Given the description of an element on the screen output the (x, y) to click on. 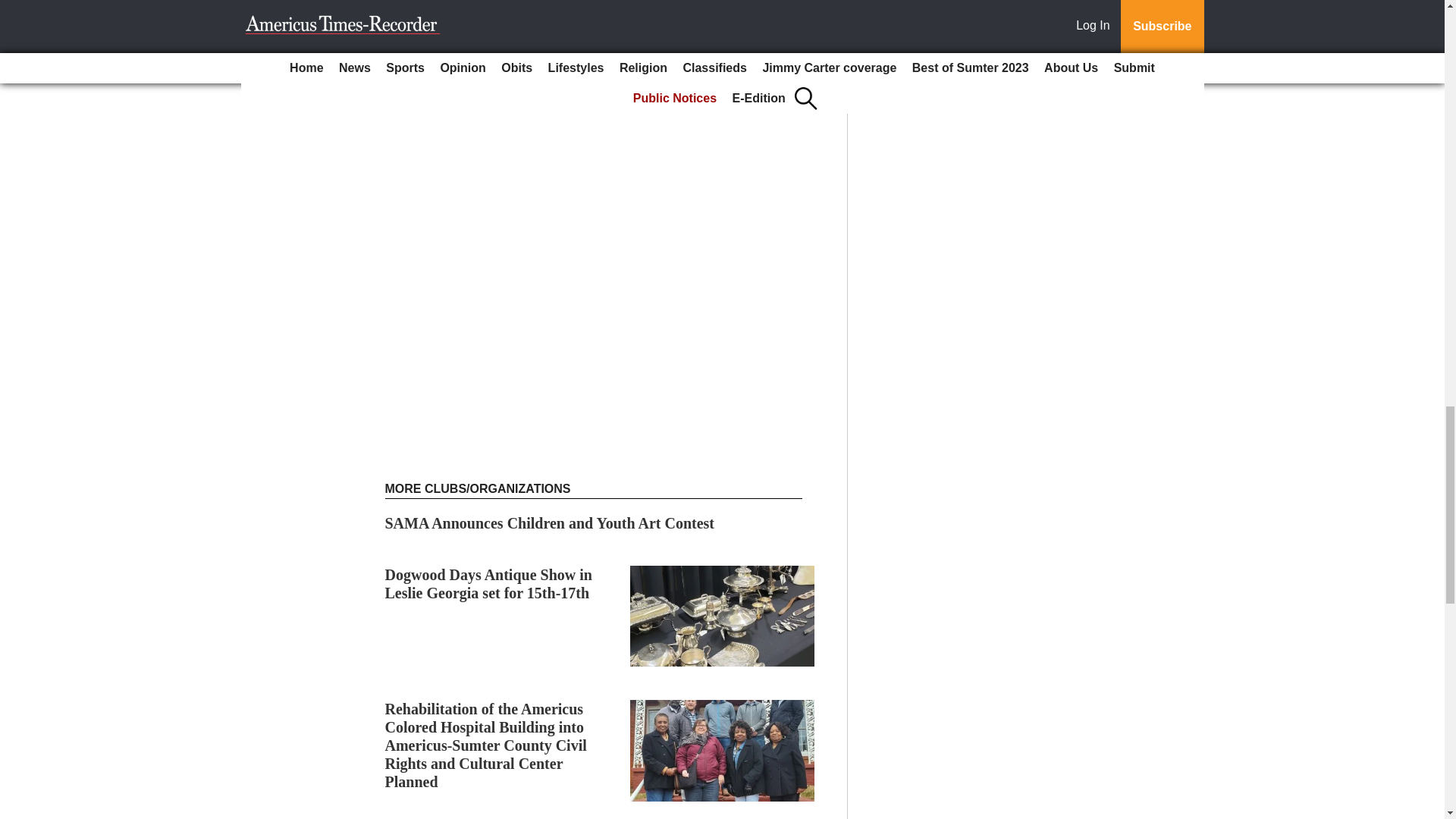
SAMA Announces Children and Youth Art Contest (549, 523)
Subscribe (434, 11)
SAMA Announces Children and Youth Art Contest (549, 523)
Subscribe (434, 11)
